Given the description of an element on the screen output the (x, y) to click on. 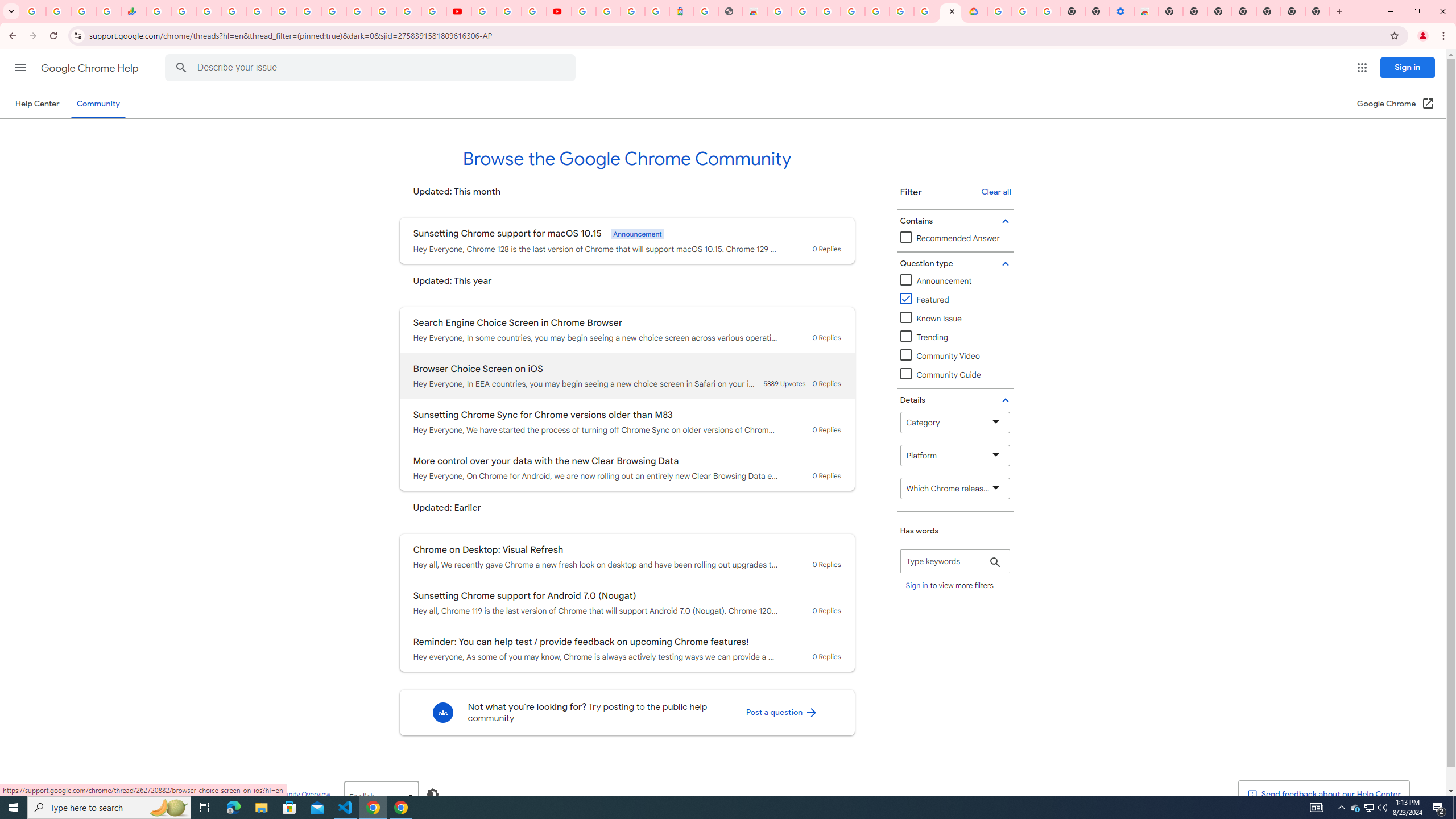
Chrome Web Store - Accessibility extensions (1145, 11)
YouTube (332, 11)
Post a question  (781, 712)
Privacy Checkup (433, 11)
Chrome Web Store - Household (754, 11)
 Apply filter  (995, 562)
Community Guide (954, 374)
Known Issue (954, 318)
Browse the Google Chrome Community - Google Chrome Community (950, 11)
